Given the description of an element on the screen output the (x, y) to click on. 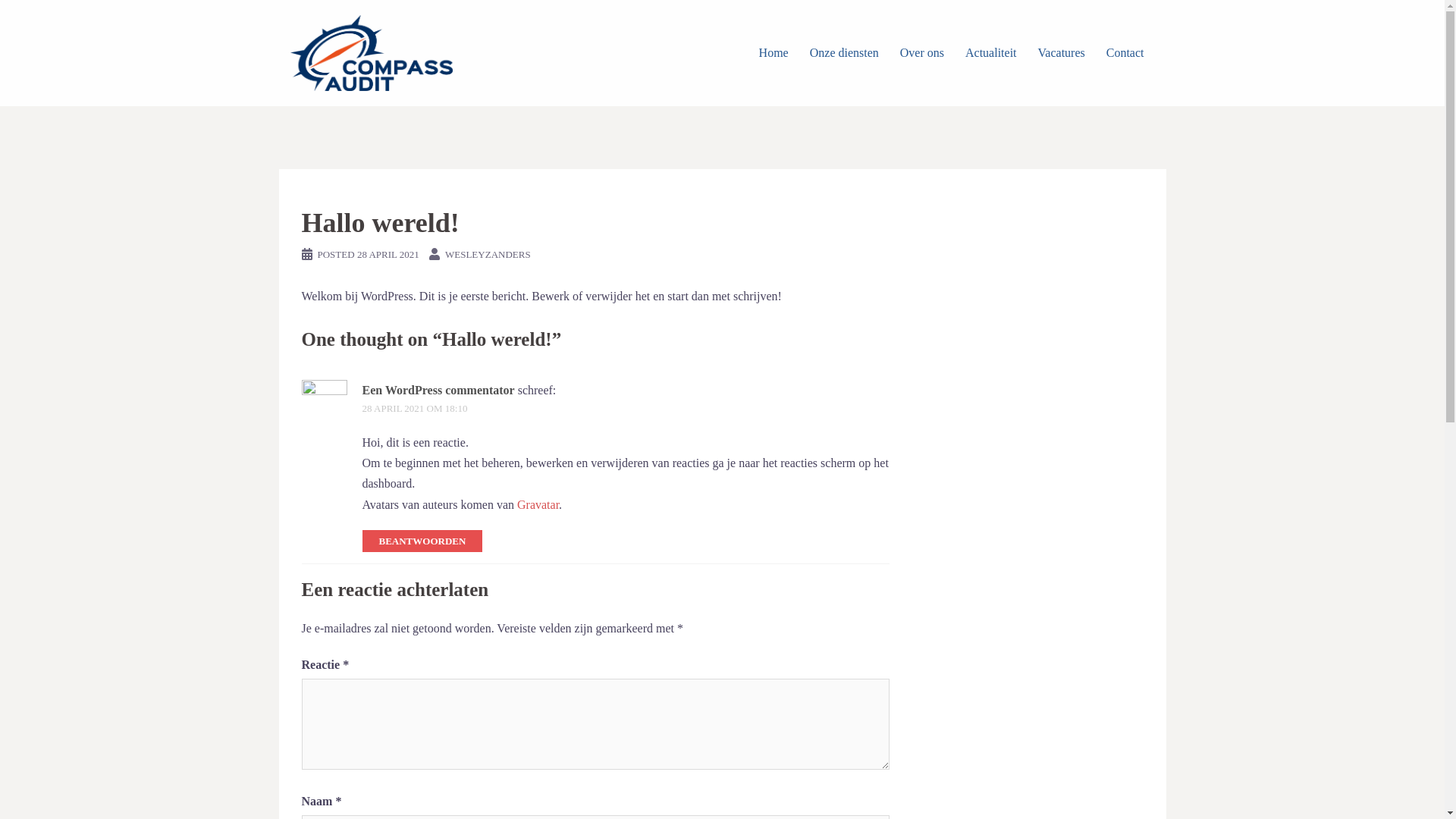
Contact Element type: text (1125, 52)
BEANTWOORDEN Element type: text (422, 541)
28 APRIL 2021 Element type: text (388, 254)
Een WordPress commentator Element type: text (438, 389)
28 APRIL 2021 OM 18:10 Element type: text (414, 408)
WESLEYZANDERS Element type: text (487, 254)
Actualiteit Element type: text (990, 52)
Gravatar Element type: text (537, 504)
Onze diensten Element type: text (843, 52)
Home Element type: text (773, 52)
Over ons Element type: text (922, 52)
Vacatures Element type: text (1061, 52)
